Given the description of an element on the screen output the (x, y) to click on. 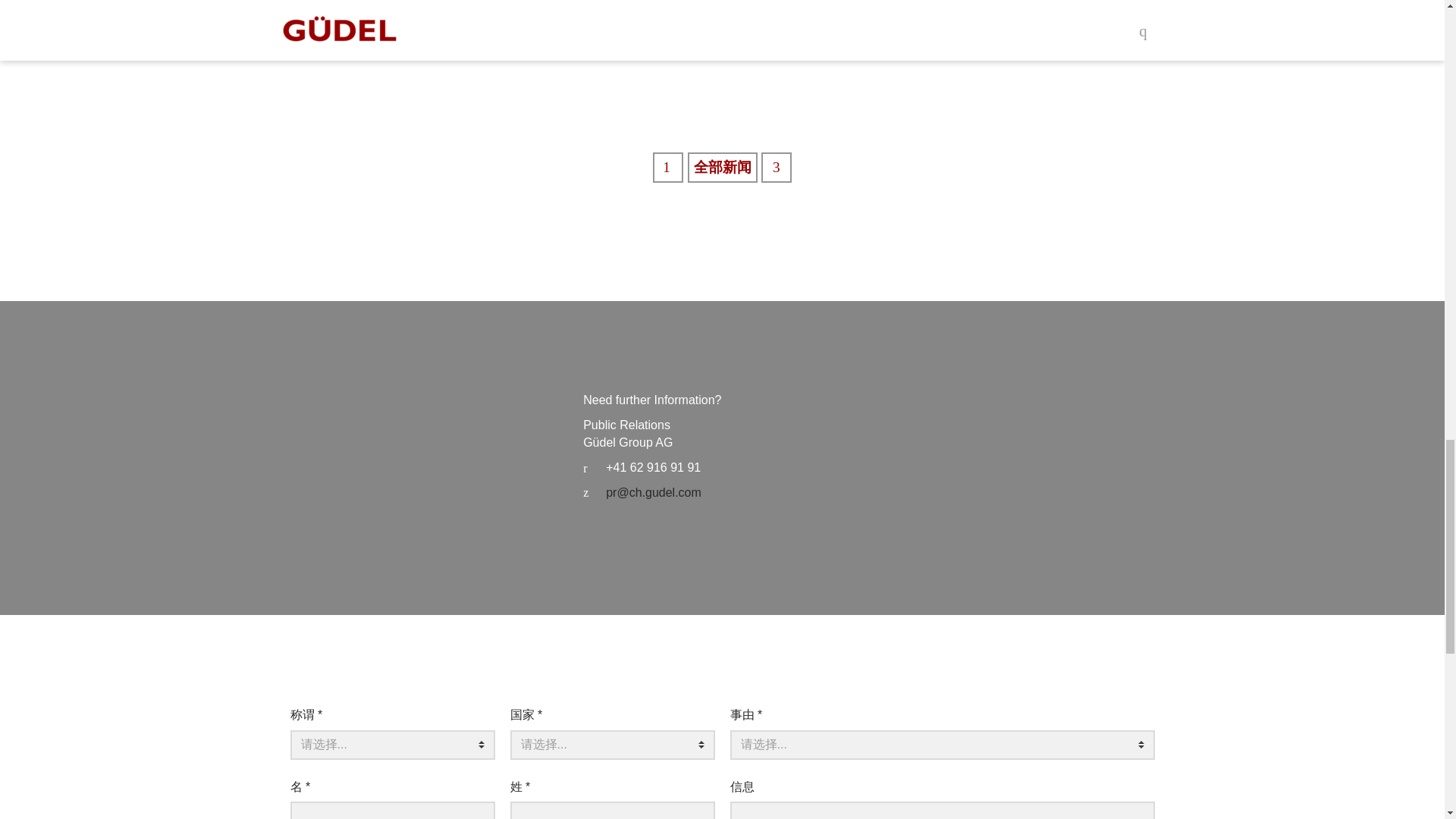
Download PDF (592, 52)
Speedcargo Technologies (776, 167)
